Given the description of an element on the screen output the (x, y) to click on. 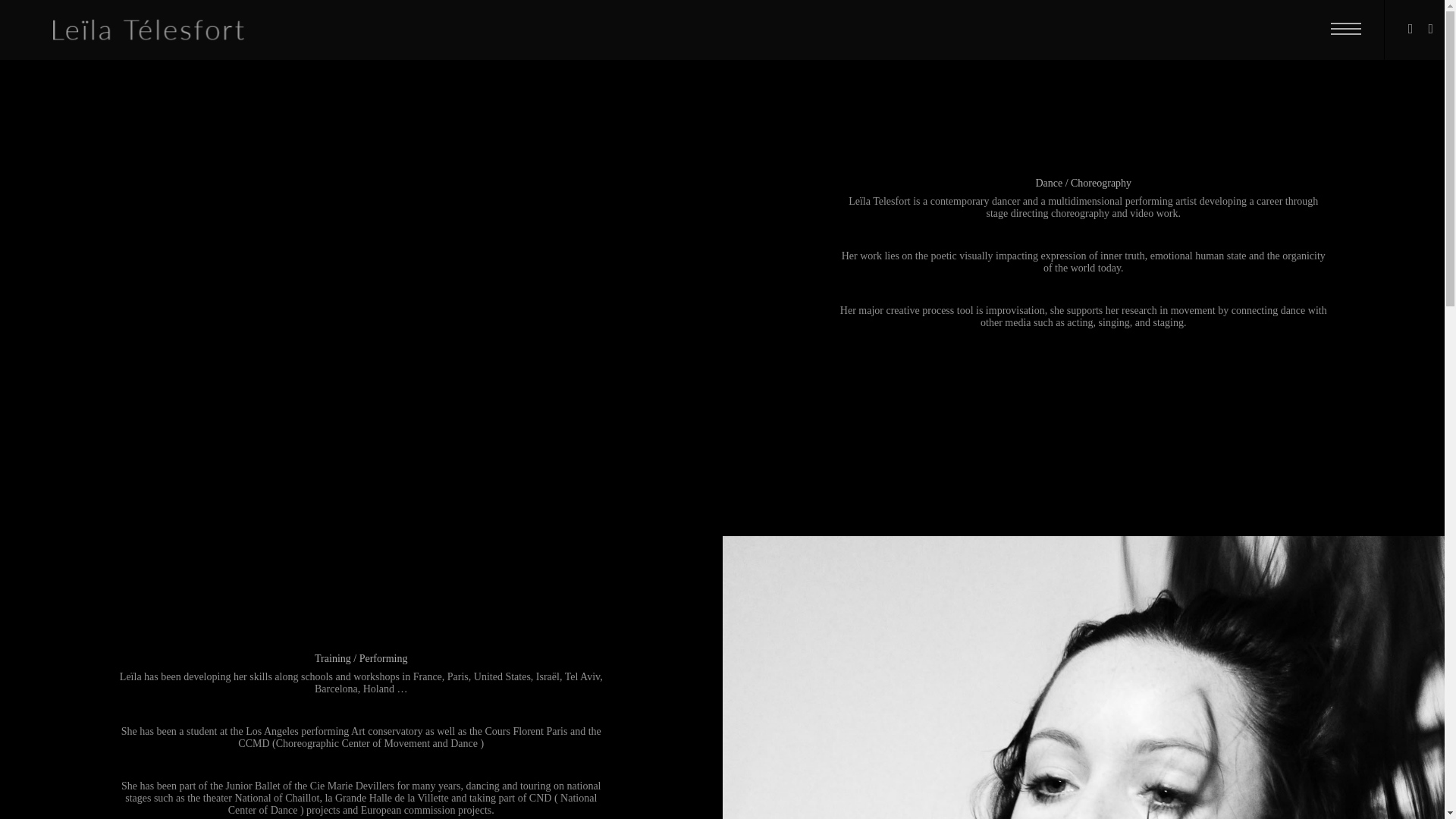
Leila Telefort (129, 29)
